Given the description of an element on the screen output the (x, y) to click on. 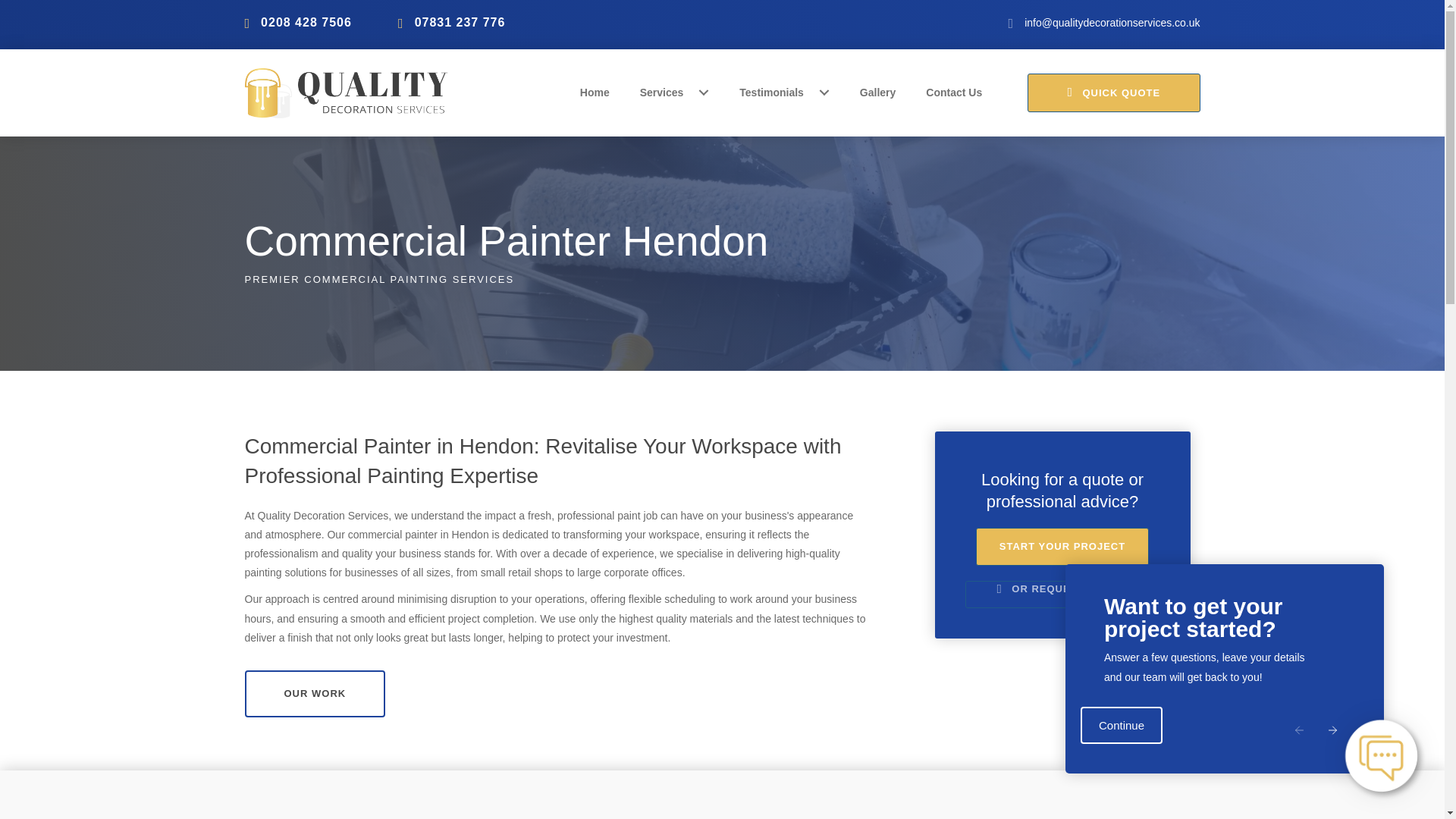
Contact Us (954, 92)
START YOUR PROJECT (1061, 546)
Testimonials (783, 92)
OR REQUEST A CALL (1060, 594)
OUR WORK (314, 693)
QUICK QUOTE (1113, 92)
quality-decoration (346, 92)
Services (674, 92)
07831 237 776 (459, 23)
0208 428 7506 (306, 23)
Continue (1120, 724)
